Given the description of an element on the screen output the (x, y) to click on. 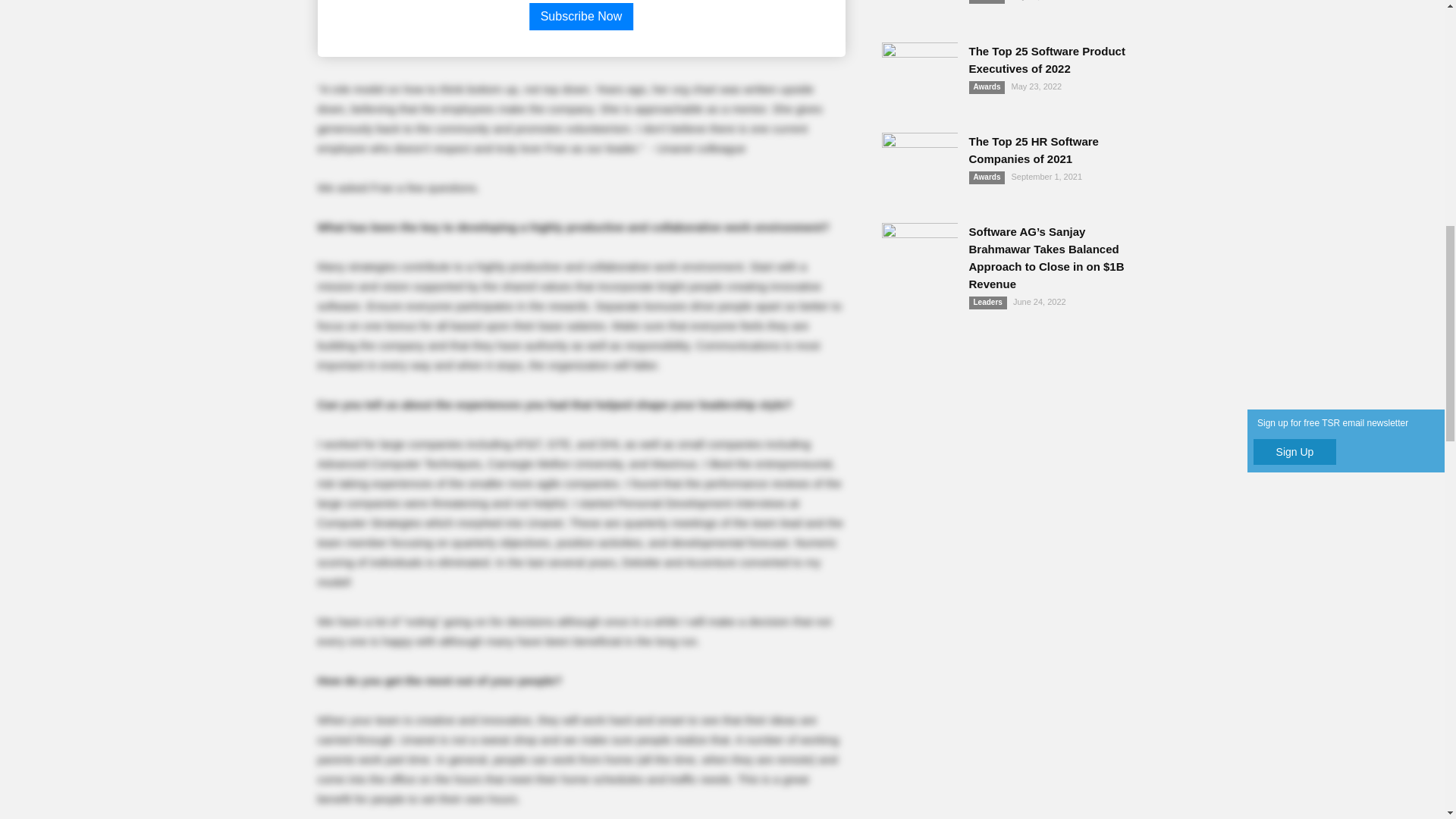
Subscribe Now (581, 16)
